Given the description of an element on the screen output the (x, y) to click on. 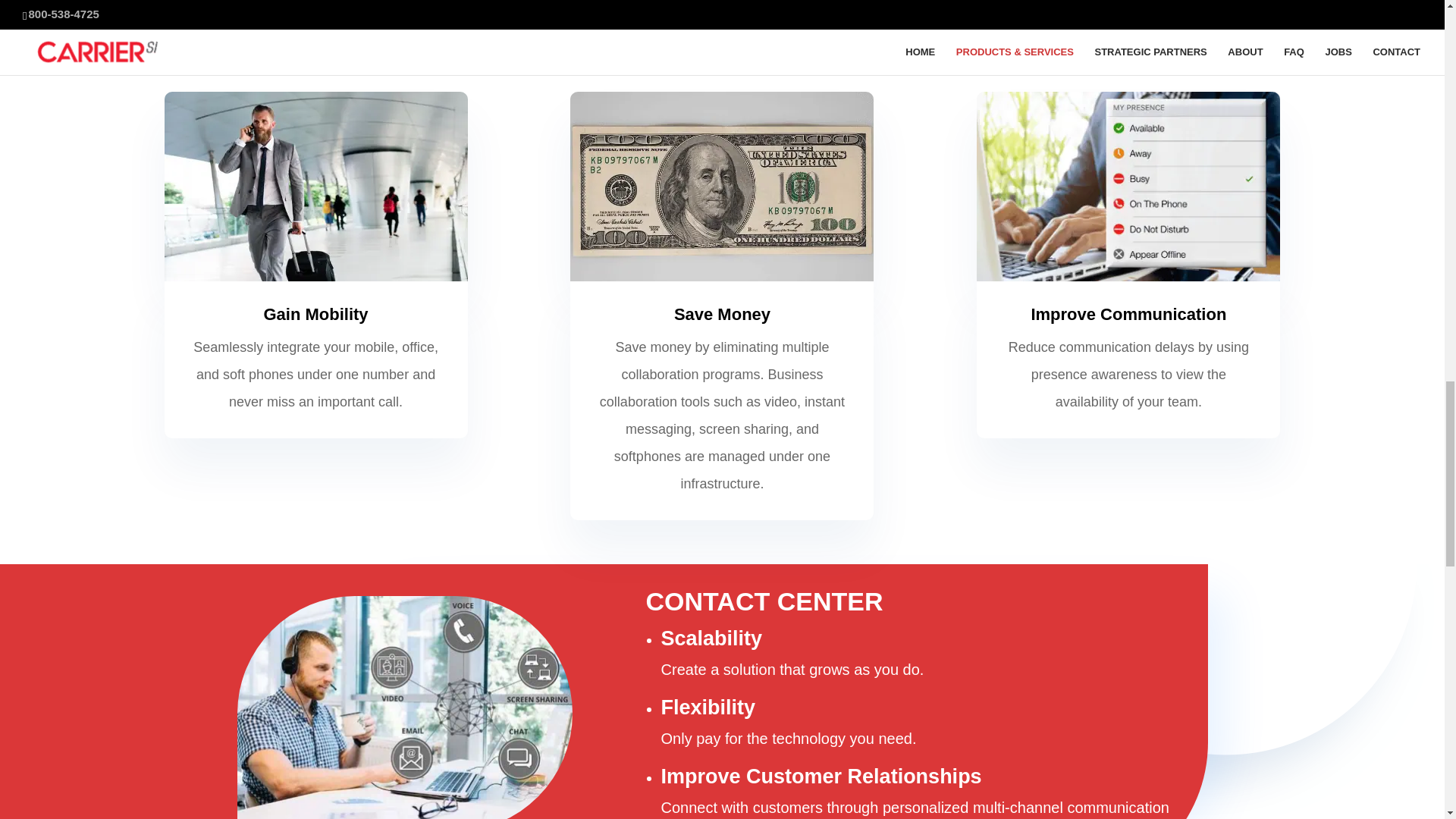
Contact Center (403, 707)
Communication (1127, 186)
Money (721, 186)
Mobility (315, 186)
